Given the description of an element on the screen output the (x, y) to click on. 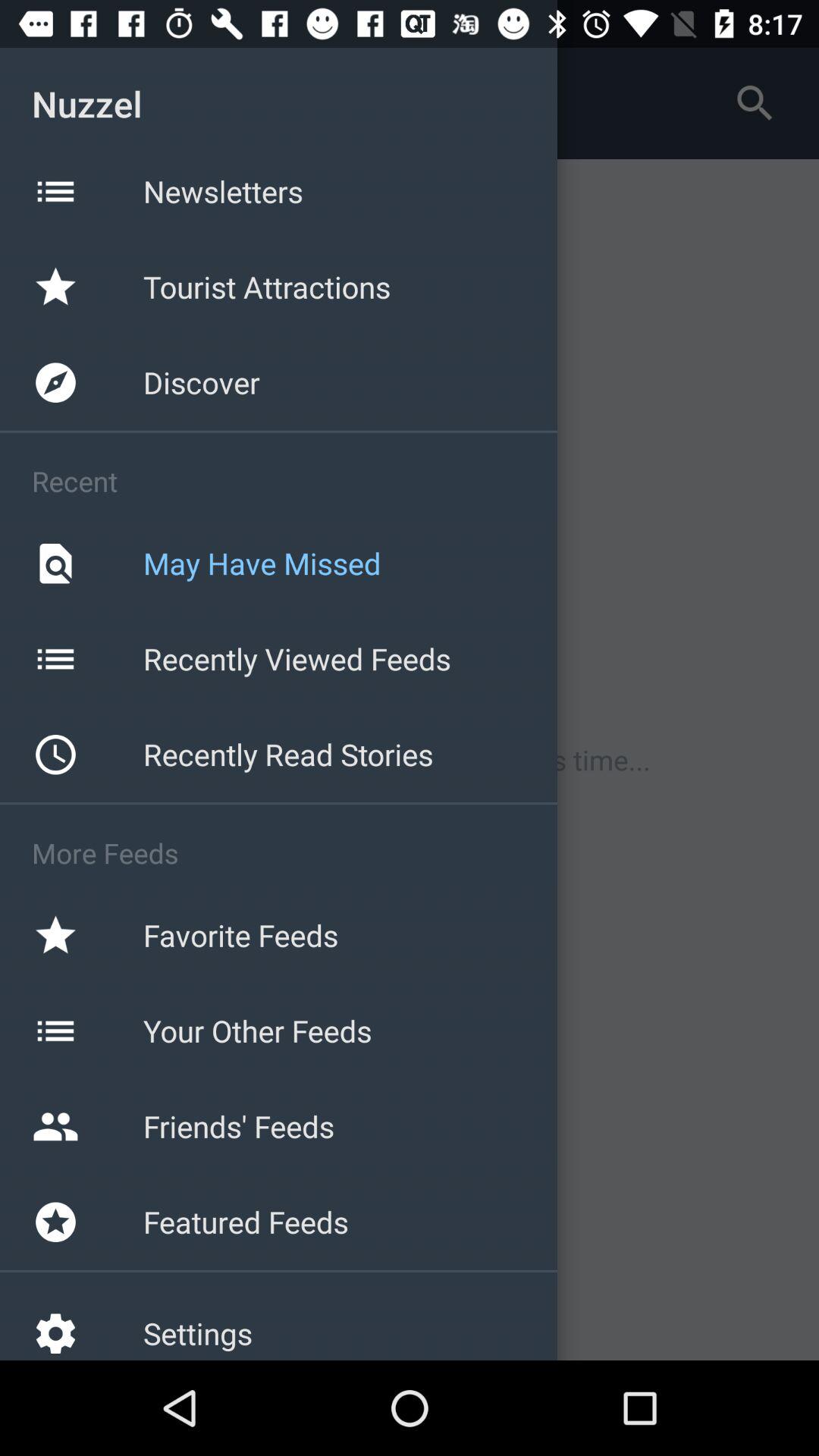
select the icon favorite feeds (55, 935)
click the search button beside may have missed (55, 564)
select the star icon on the web page (55, 287)
click on the icon beside newsletters (55, 191)
click on the icon beside featured feeds (55, 1222)
the icon shown to the left of recently read stories (55, 754)
click on the icon beside your other feeds (55, 1030)
